Given the description of an element on the screen output the (x, y) to click on. 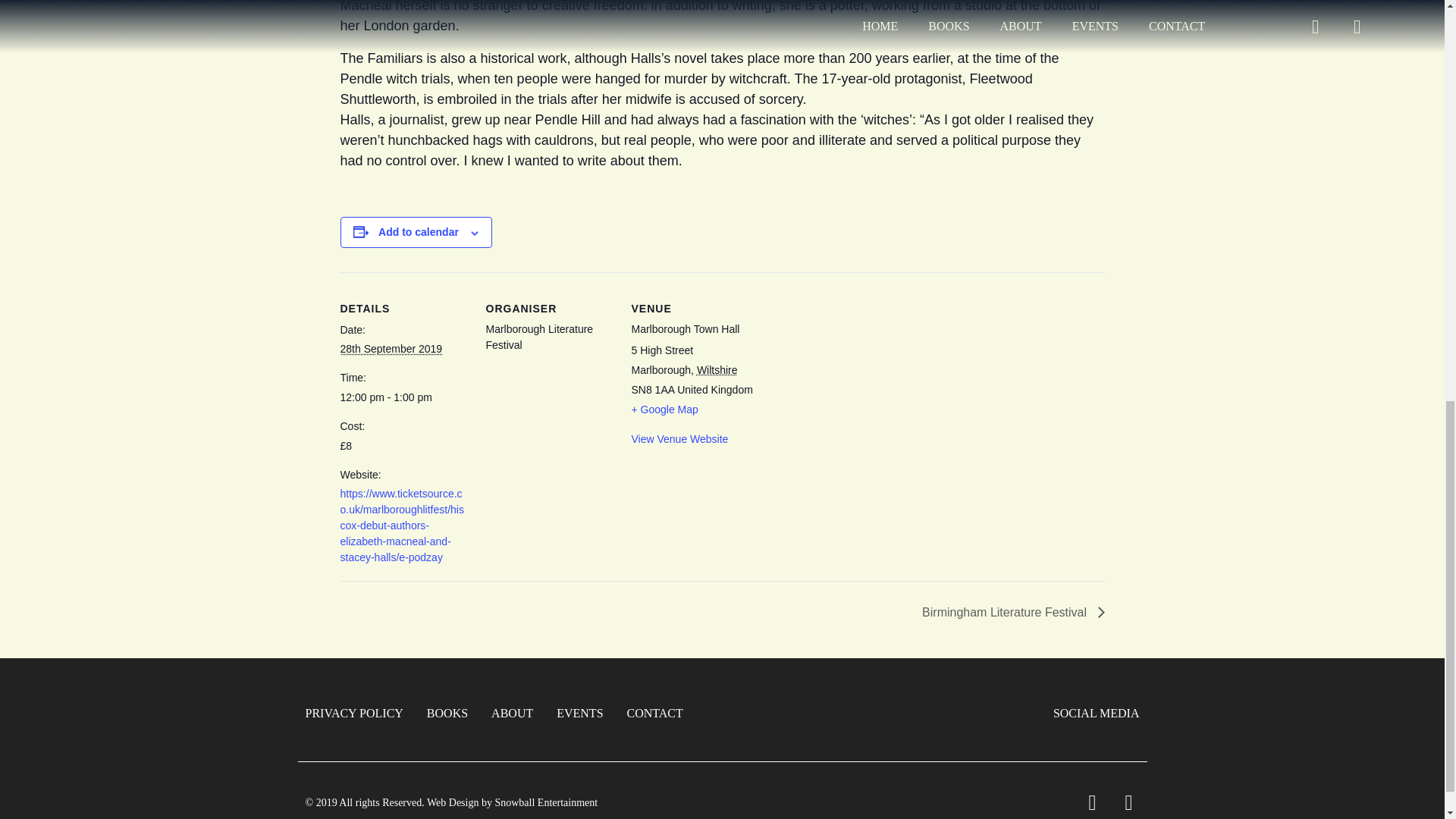
PRIVACY POLICY (353, 713)
Click to view a Google Map (663, 409)
Wiltshire (717, 369)
2019-09-28 (390, 348)
Add to calendar (418, 232)
2019-09-28 (403, 397)
View Venue Website (679, 439)
ABOUT (512, 713)
BOOKS (446, 713)
Birmingham Literature Festival (1008, 612)
EVENTS (579, 713)
